Given the description of an element on the screen output the (x, y) to click on. 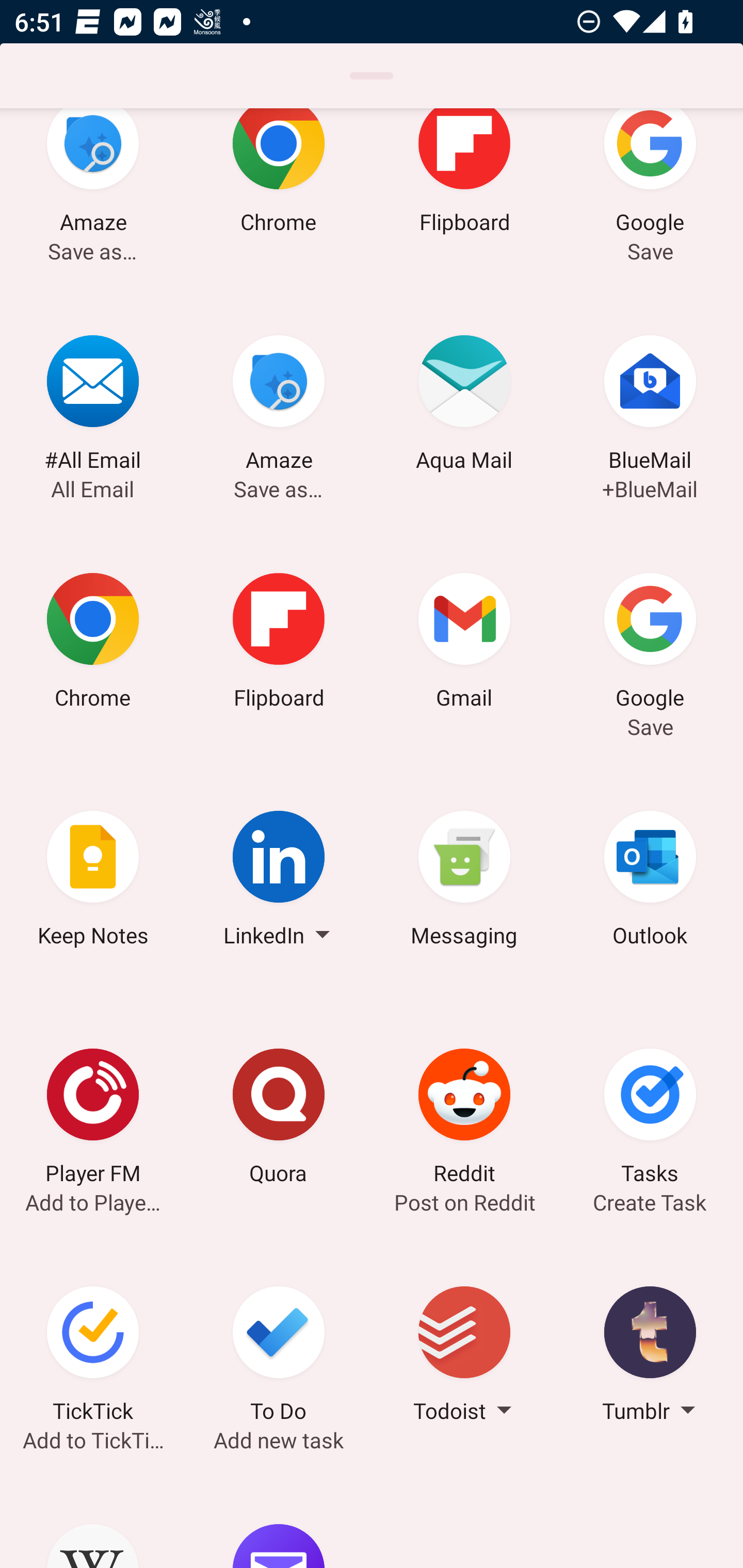
Amaze Save as… (92, 197)
Chrome (278, 197)
Flipboard (464, 197)
Google Save (650, 197)
#All Email All Email (92, 405)
Amaze Save as… (278, 405)
Aqua Mail (464, 405)
BlueMail +BlueMail (650, 405)
Chrome (92, 644)
Flipboard (278, 644)
Gmail (464, 644)
Google Save (650, 644)
Keep Notes (92, 881)
LinkedIn (278, 881)
Messaging (464, 881)
Outlook (650, 881)
Player FM Add to Player FM (92, 1119)
Quora (278, 1119)
Reddit Post on Reddit (464, 1119)
Tasks Create Task (650, 1119)
TickTick Add to TickTick (92, 1356)
To Do Add new task (278, 1356)
Todoist (464, 1356)
Tumblr (650, 1356)
